Given the description of an element on the screen output the (x, y) to click on. 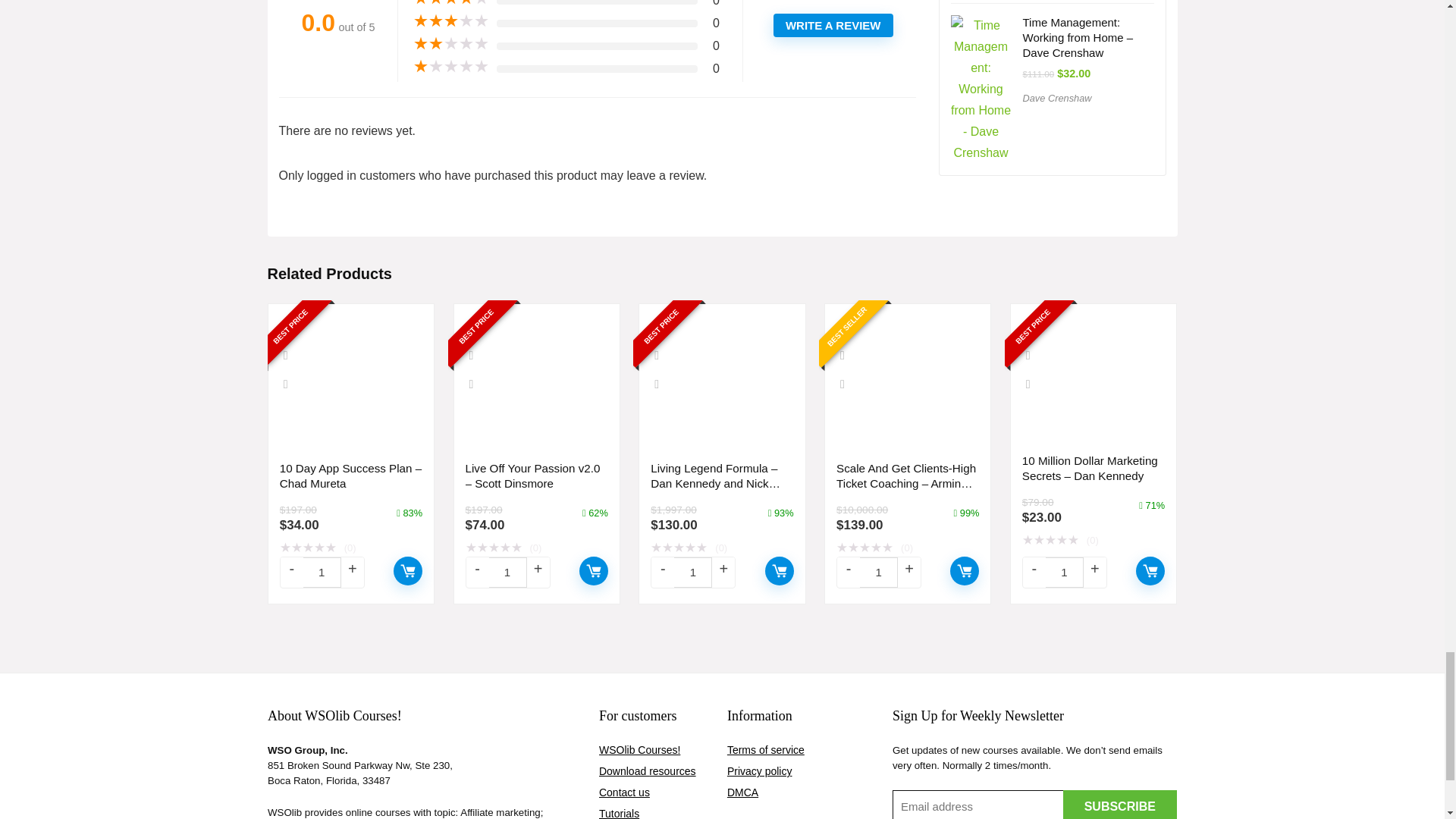
Rated 0 out of 5 (350, 547)
Subscribe (1119, 804)
- (848, 568)
Rated 2 out of 5 (451, 43)
- (662, 568)
Rated 0 out of 5 (721, 547)
1 (1064, 572)
- (477, 568)
Rated 4 out of 5 (451, 2)
1 (692, 572)
Qty (692, 572)
1 (879, 572)
1 (508, 572)
Qty (321, 572)
- (291, 568)
